Given the description of an element on the screen output the (x, y) to click on. 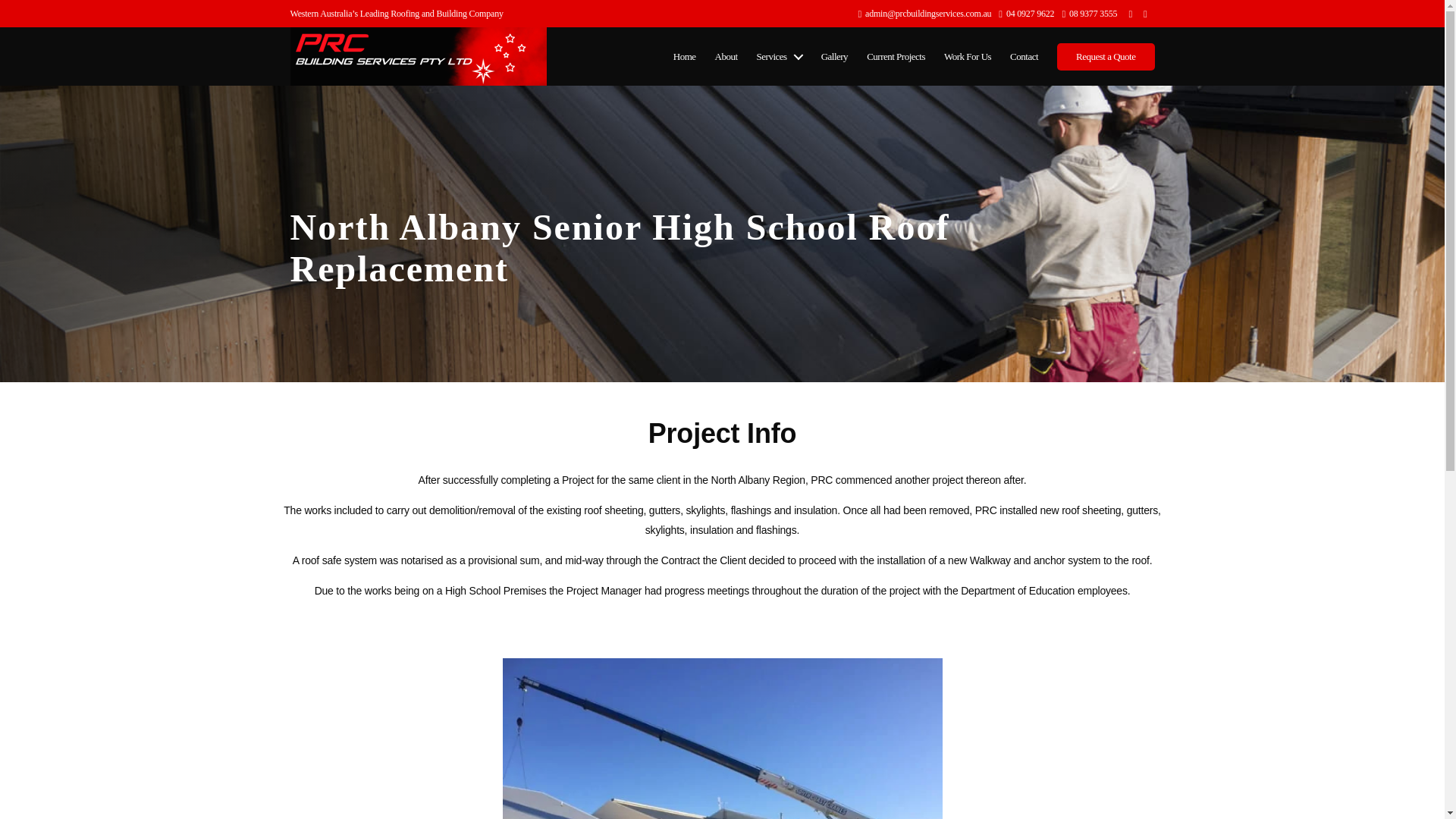
Services (779, 55)
Current Projects (895, 55)
Work For Us (967, 55)
Gallery (834, 55)
04 0927 9622 (1026, 13)
Request a Quote (1105, 55)
08 9377 3555 (1088, 13)
Contact (1024, 55)
